Given the description of an element on the screen output the (x, y) to click on. 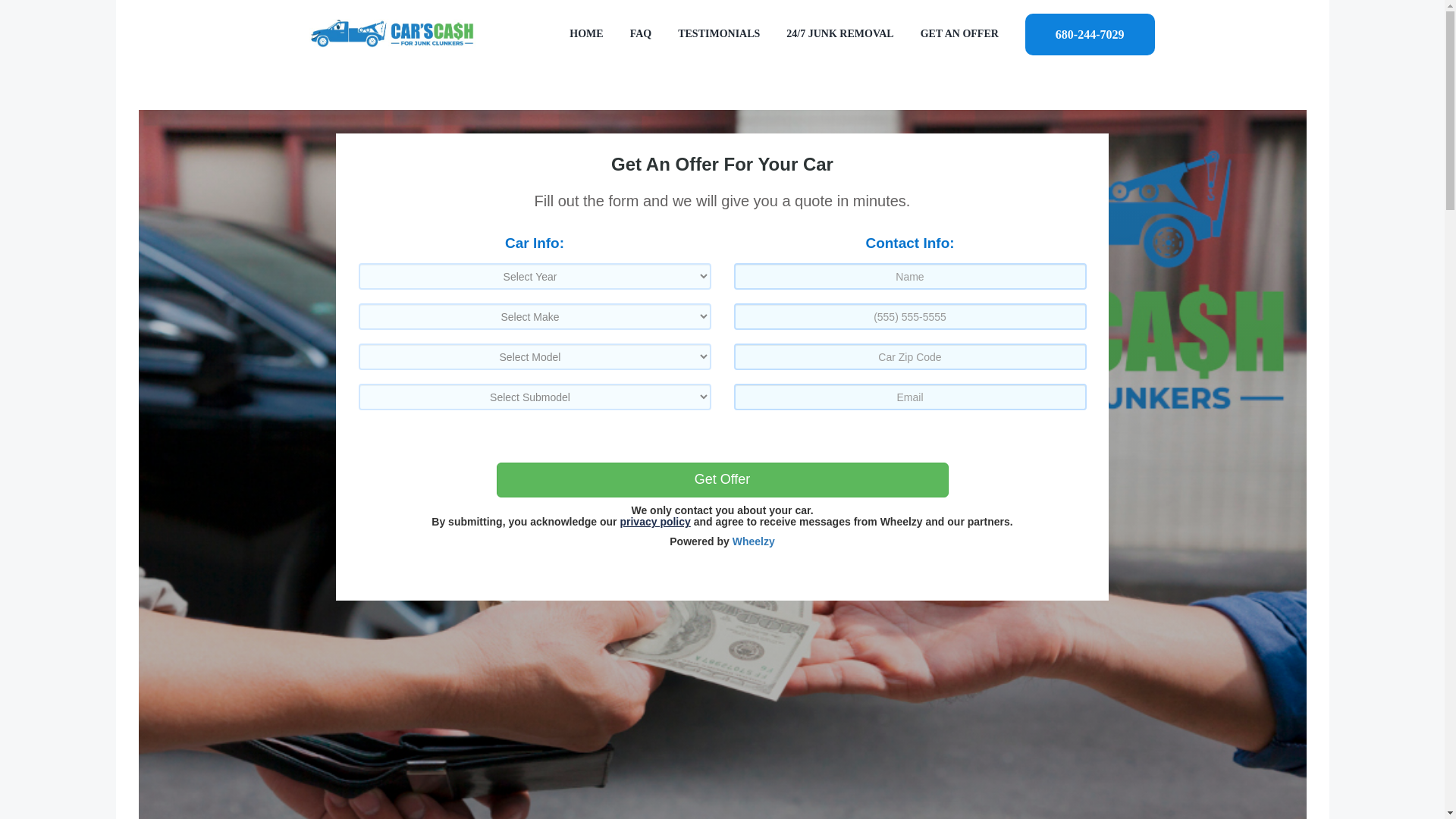
FAQ (641, 33)
HOME (585, 33)
GET AN OFFER (959, 33)
680-244-7029 (1089, 33)
TESTIMONIALS (719, 33)
